Given the description of an element on the screen output the (x, y) to click on. 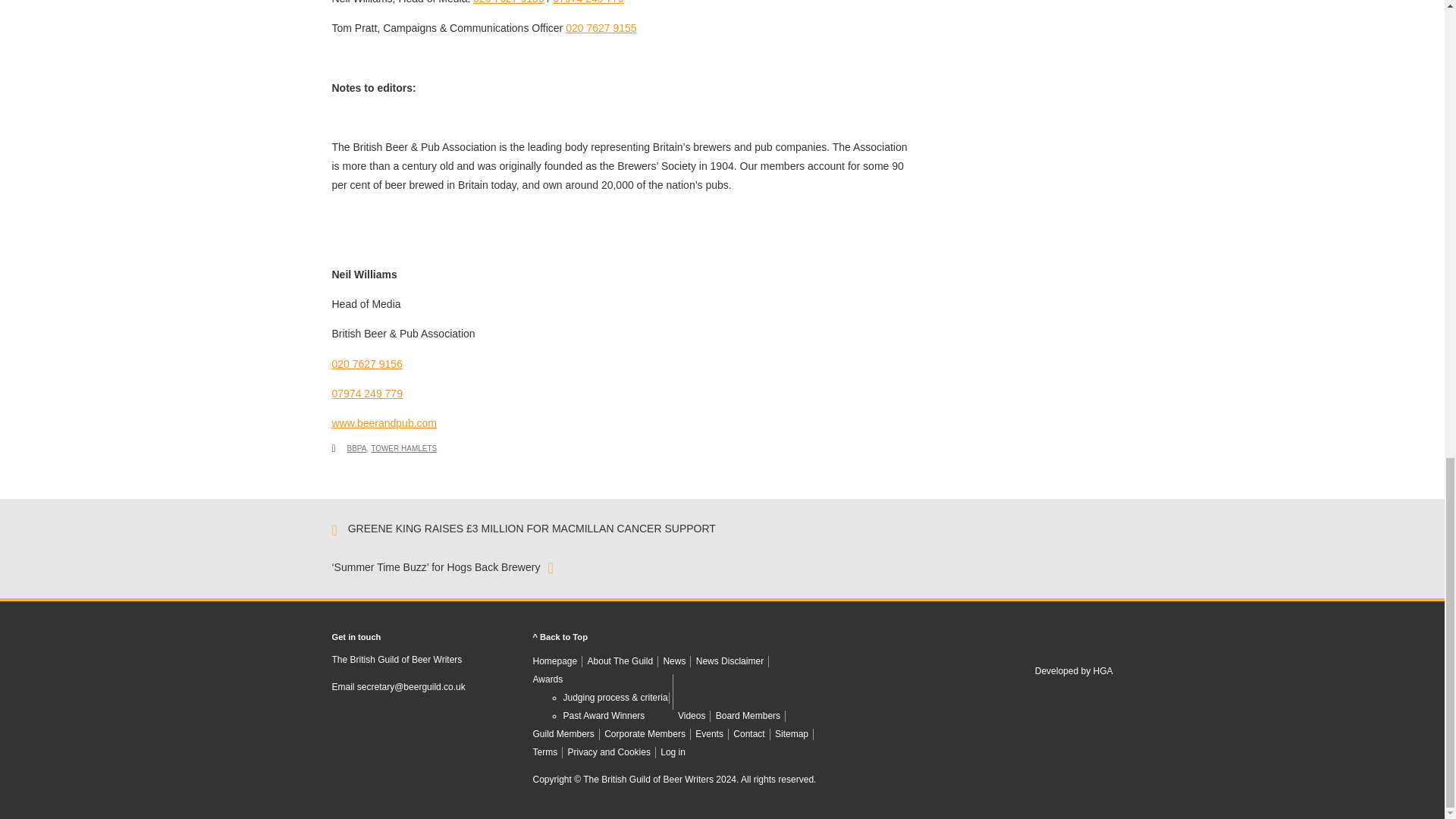
020 7627 9156 (508, 2)
